Given the description of an element on the screen output the (x, y) to click on. 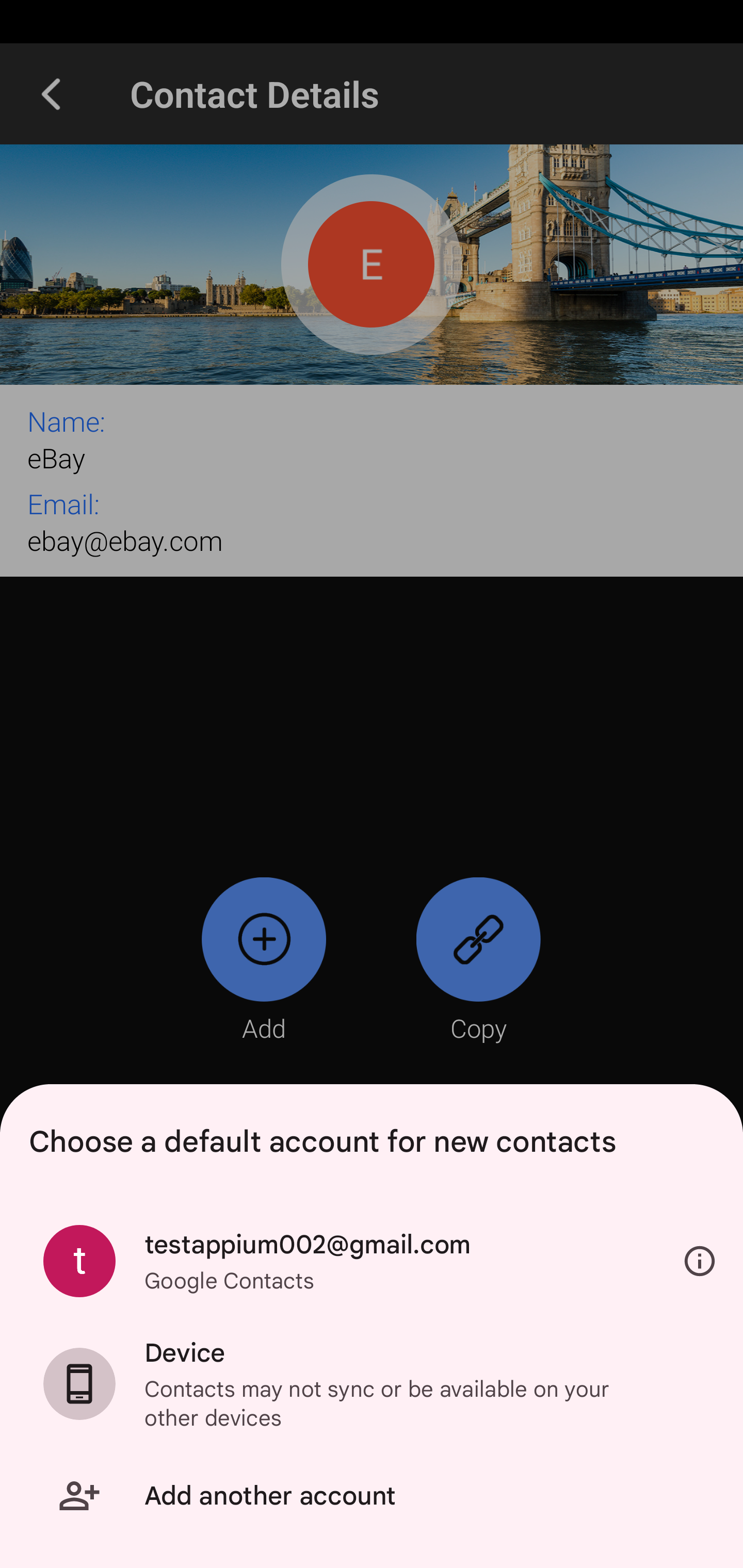
Information about account type (699, 1261)
Add another account (371, 1495)
